Given the description of an element on the screen output the (x, y) to click on. 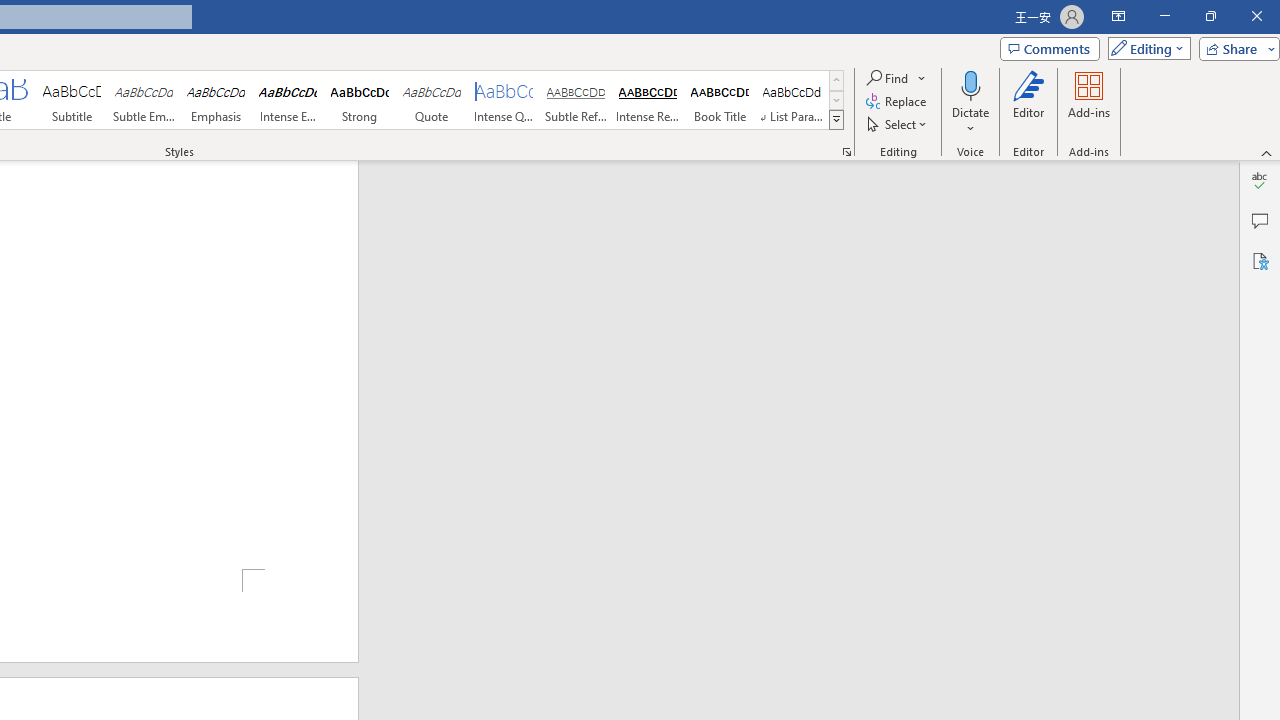
Dictate (970, 102)
Strong (359, 100)
Intense Quote (504, 100)
Subtitle (71, 100)
Close (1256, 16)
Styles (836, 120)
Find (888, 78)
Intense Emphasis (287, 100)
Collapse the Ribbon (1267, 152)
Accessibility (1260, 260)
Dictate (970, 84)
Minimize (1164, 16)
Book Title (719, 100)
Select (898, 124)
